Given the description of an element on the screen output the (x, y) to click on. 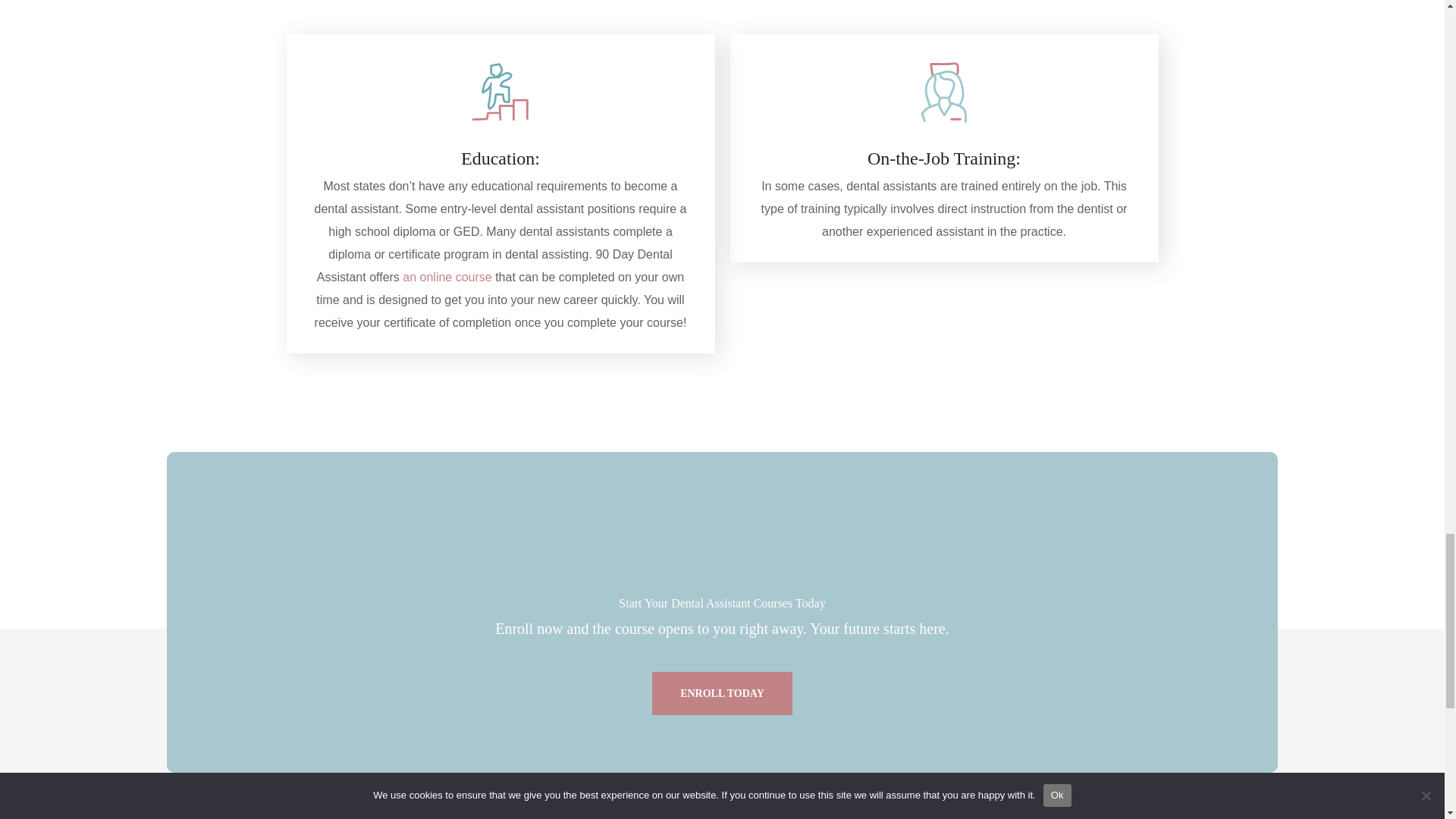
logo-white (721, 538)
